Given the description of an element on the screen output the (x, y) to click on. 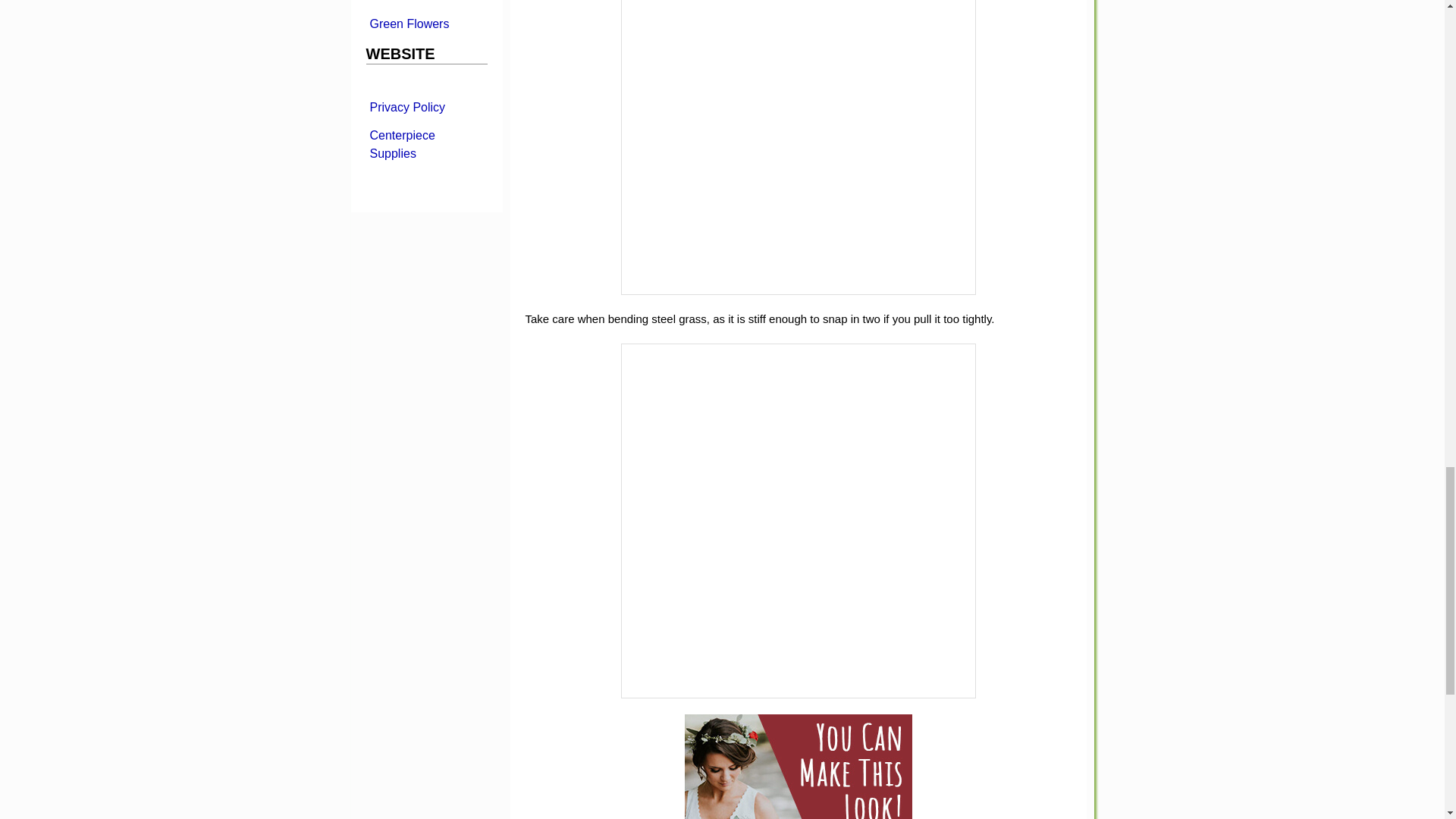
Privacy Policy (425, 106)
Green Flowers (425, 23)
